Given the description of an element on the screen output the (x, y) to click on. 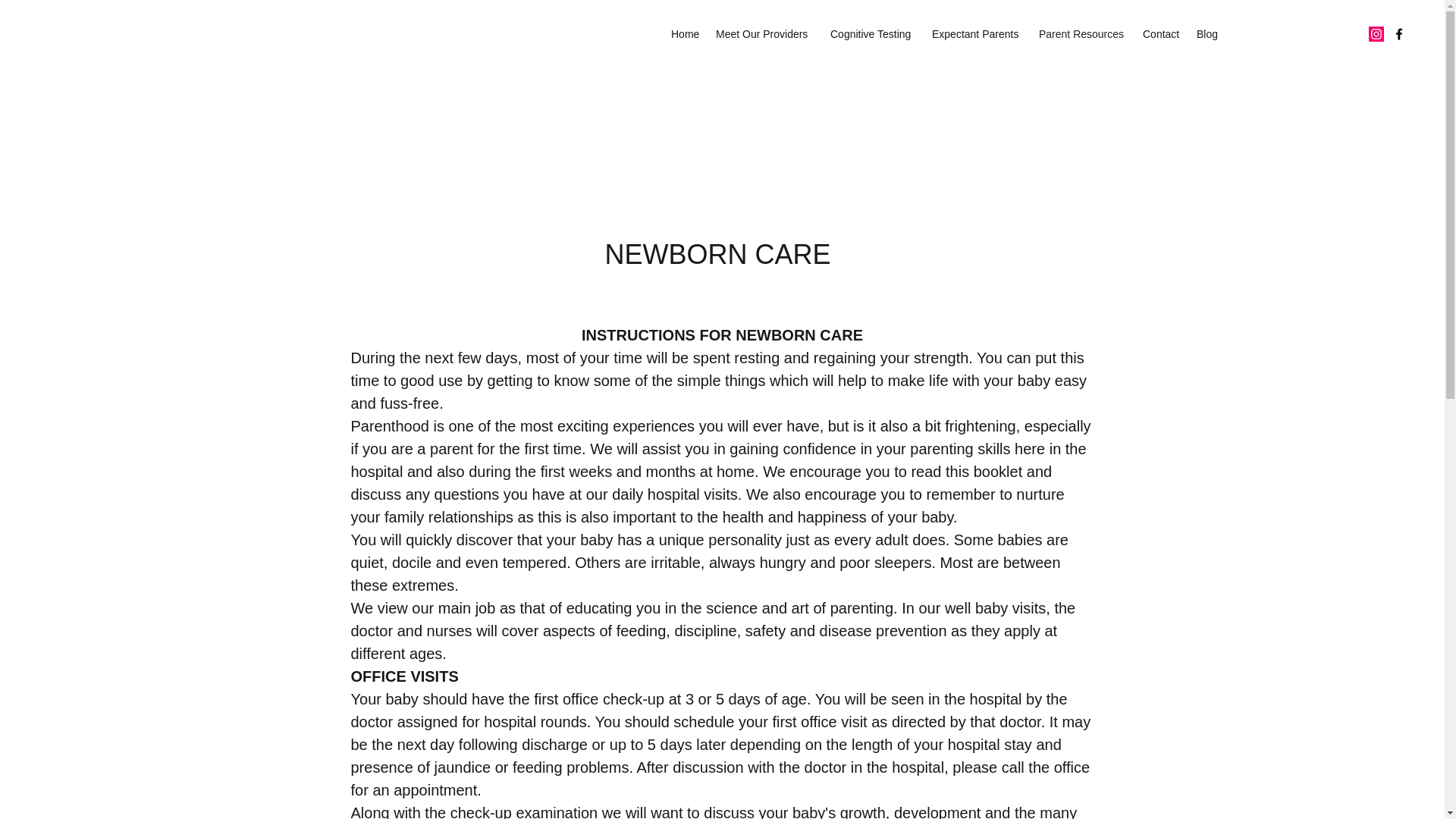
Cognitive Testing (873, 33)
Blog (1207, 33)
Parent Resources (1082, 33)
Home (685, 33)
Expectant Parents (977, 33)
Contact (1162, 33)
Meet Our Providers (764, 33)
